Given the description of an element on the screen output the (x, y) to click on. 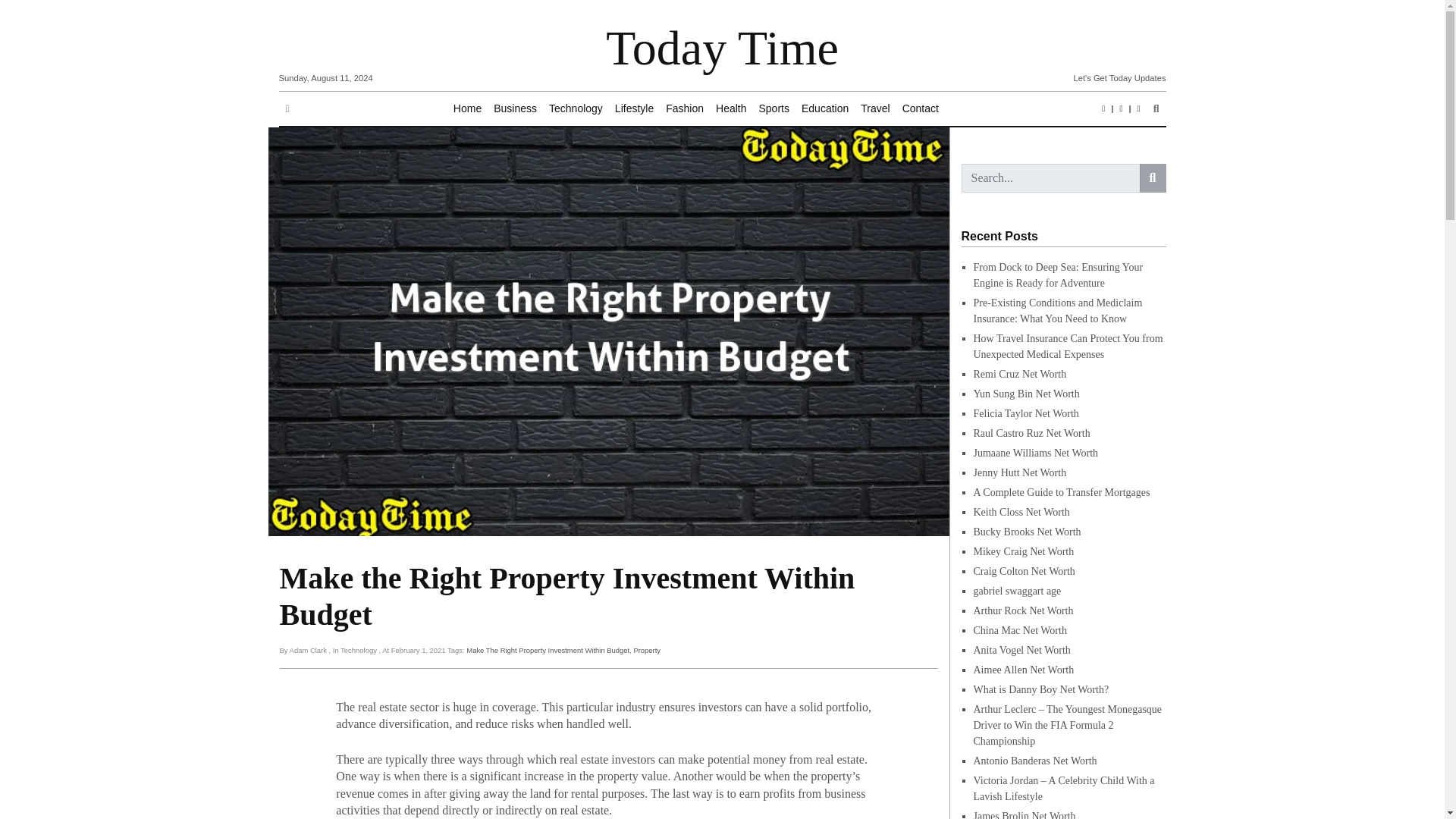
Lifestyle (633, 108)
Sports (773, 108)
Sports (773, 108)
Home (466, 108)
Technology (575, 108)
Property (647, 650)
Travel (874, 108)
Fashion (684, 108)
Travel (874, 108)
Health (731, 108)
